Given the description of an element on the screen output the (x, y) to click on. 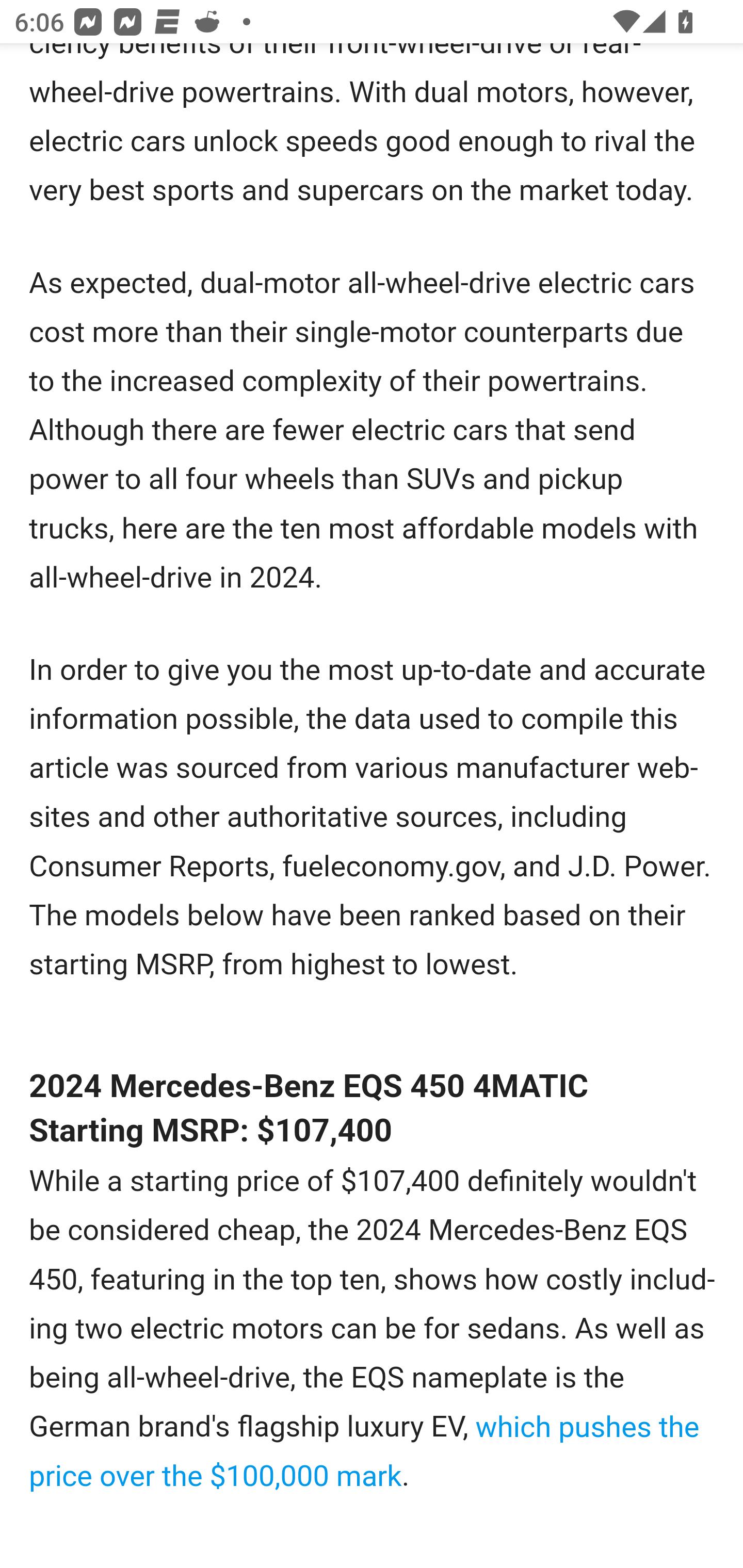
which pushes the price over the $100,000 mark (364, 1452)
